Given the description of an element on the screen output the (x, y) to click on. 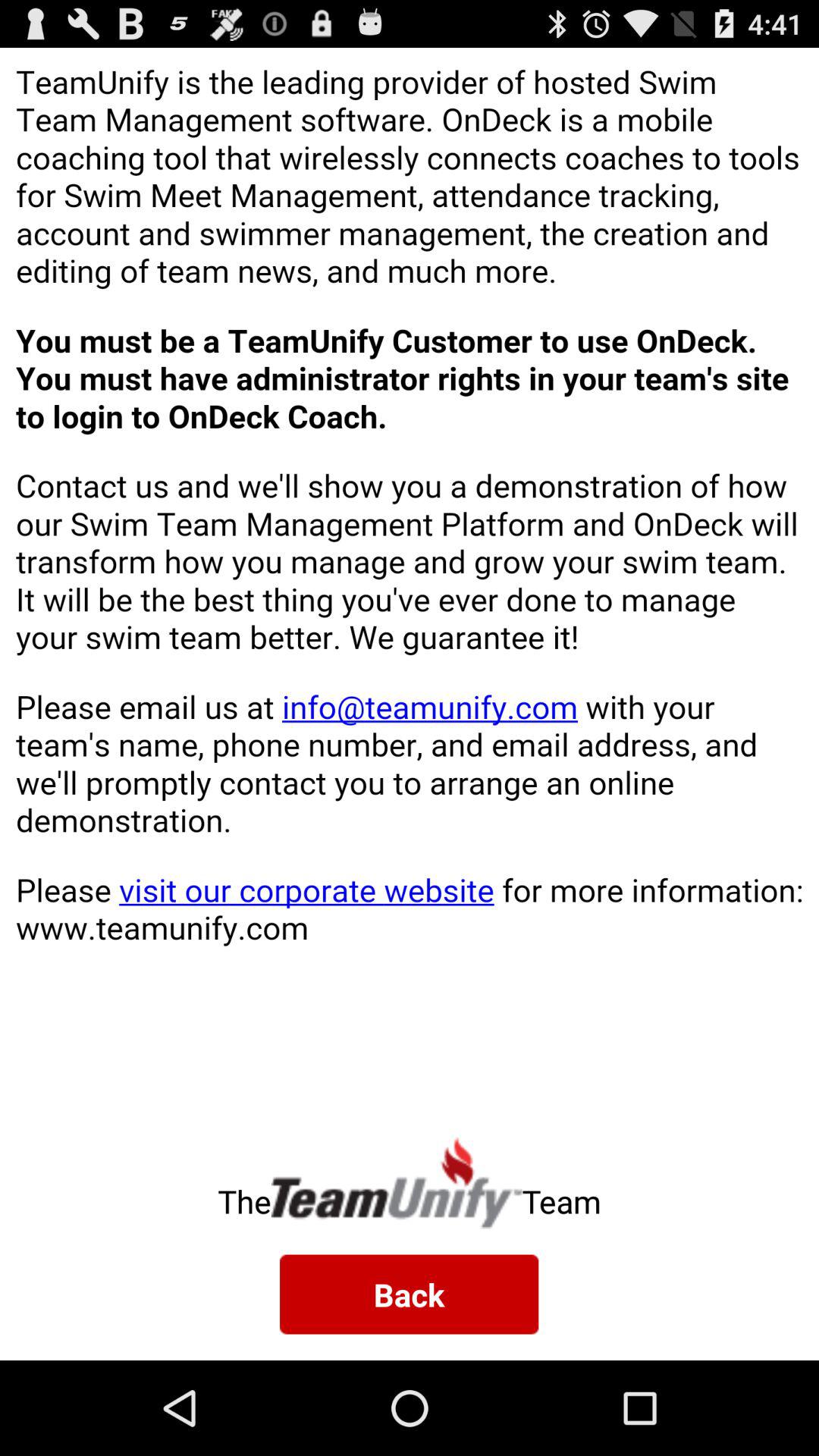
color print (409, 580)
